Given the description of an element on the screen output the (x, y) to click on. 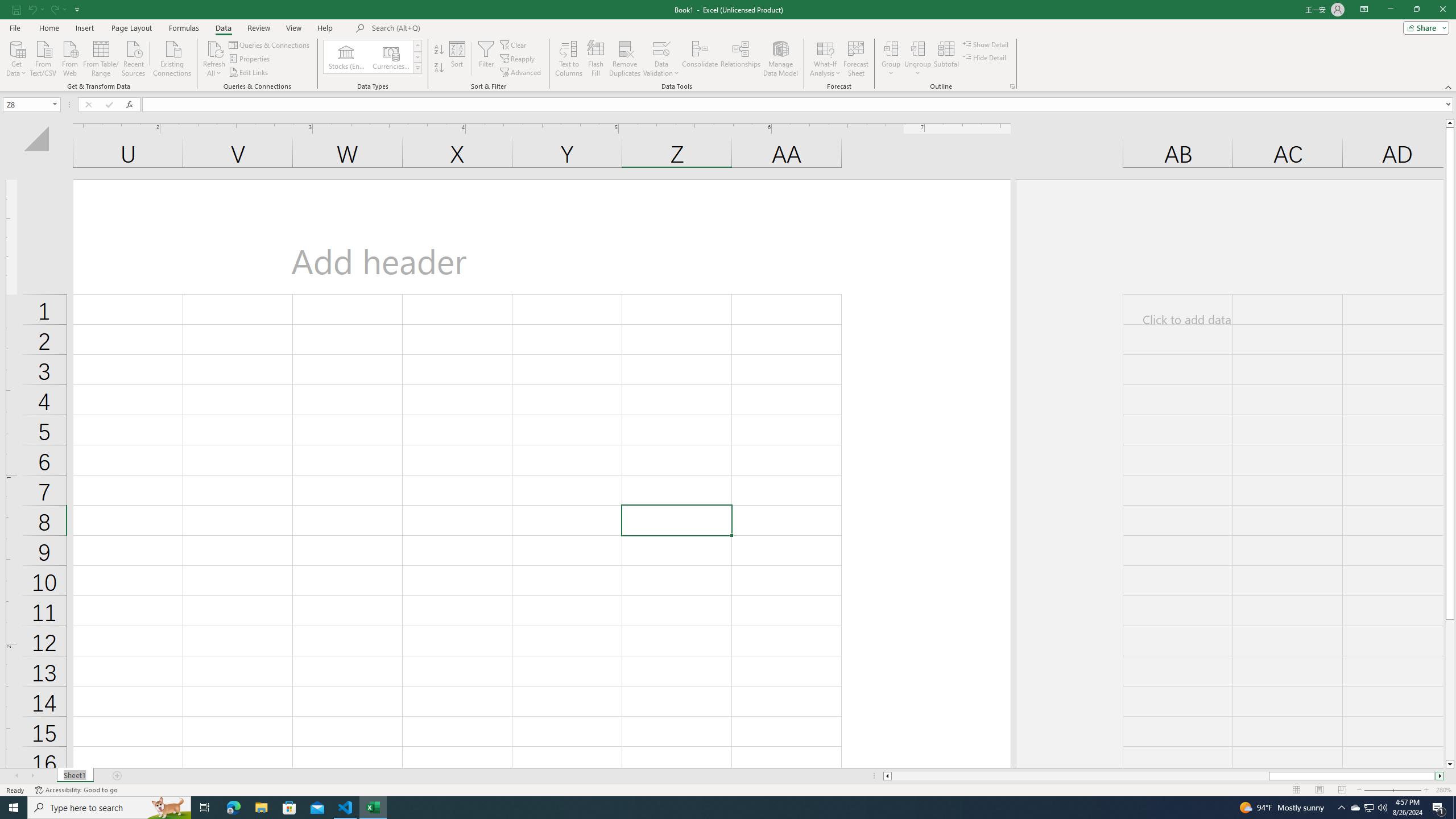
Line down (1449, 764)
Home (48, 28)
More Options (917, 68)
Clear (513, 44)
Sort... (456, 58)
Flash Fill (595, 58)
System (6, 6)
From Table/Range (100, 57)
Refresh All (214, 48)
Relationships (740, 58)
Reapply (517, 58)
Page down (1449, 689)
Page Layout (131, 28)
